Given the description of an element on the screen output the (x, y) to click on. 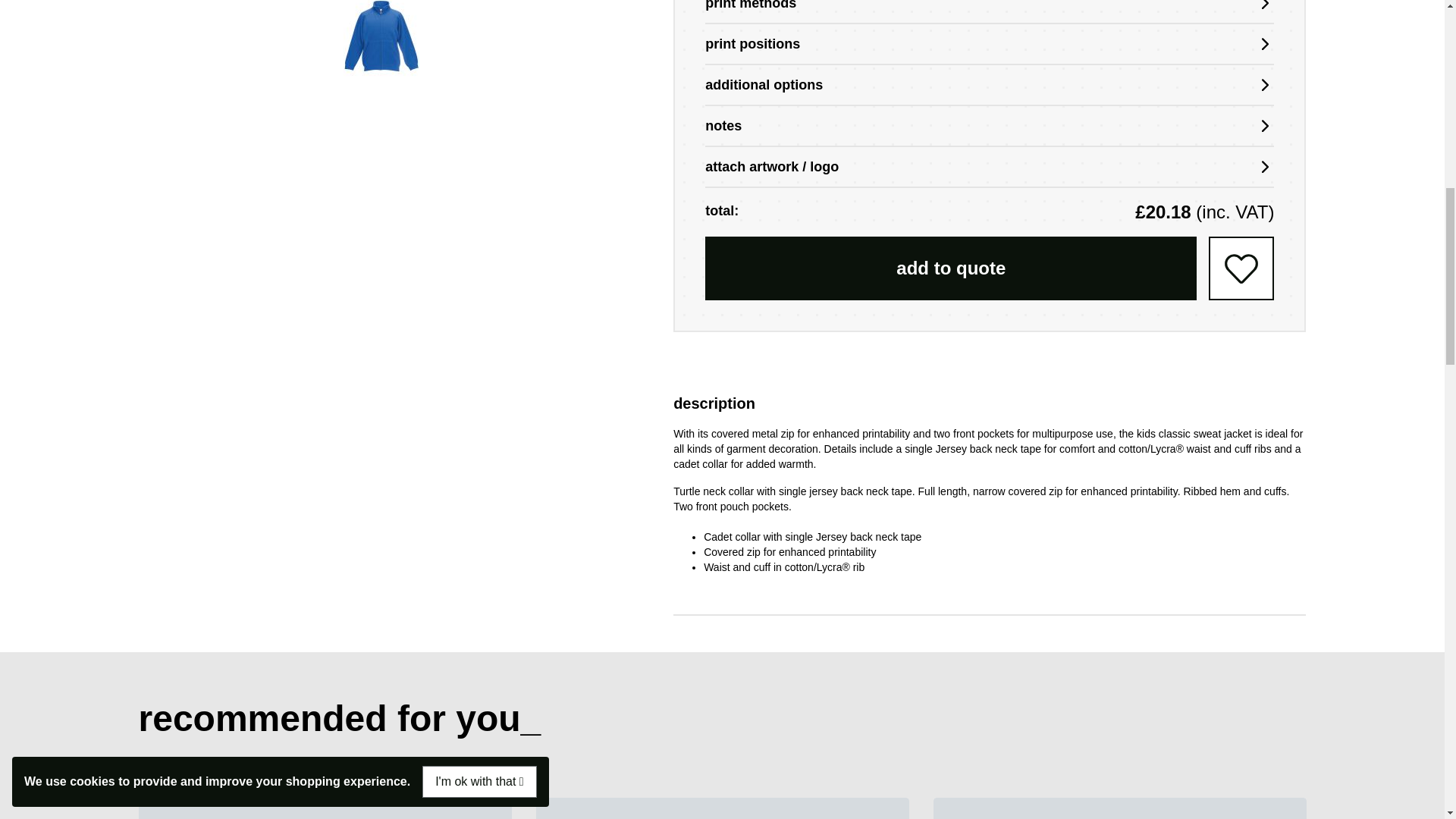
listing.name (1119, 808)
Hover to zoom (381, 40)
listing.name (721, 808)
listing.name (324, 808)
